Given the description of an element on the screen output the (x, y) to click on. 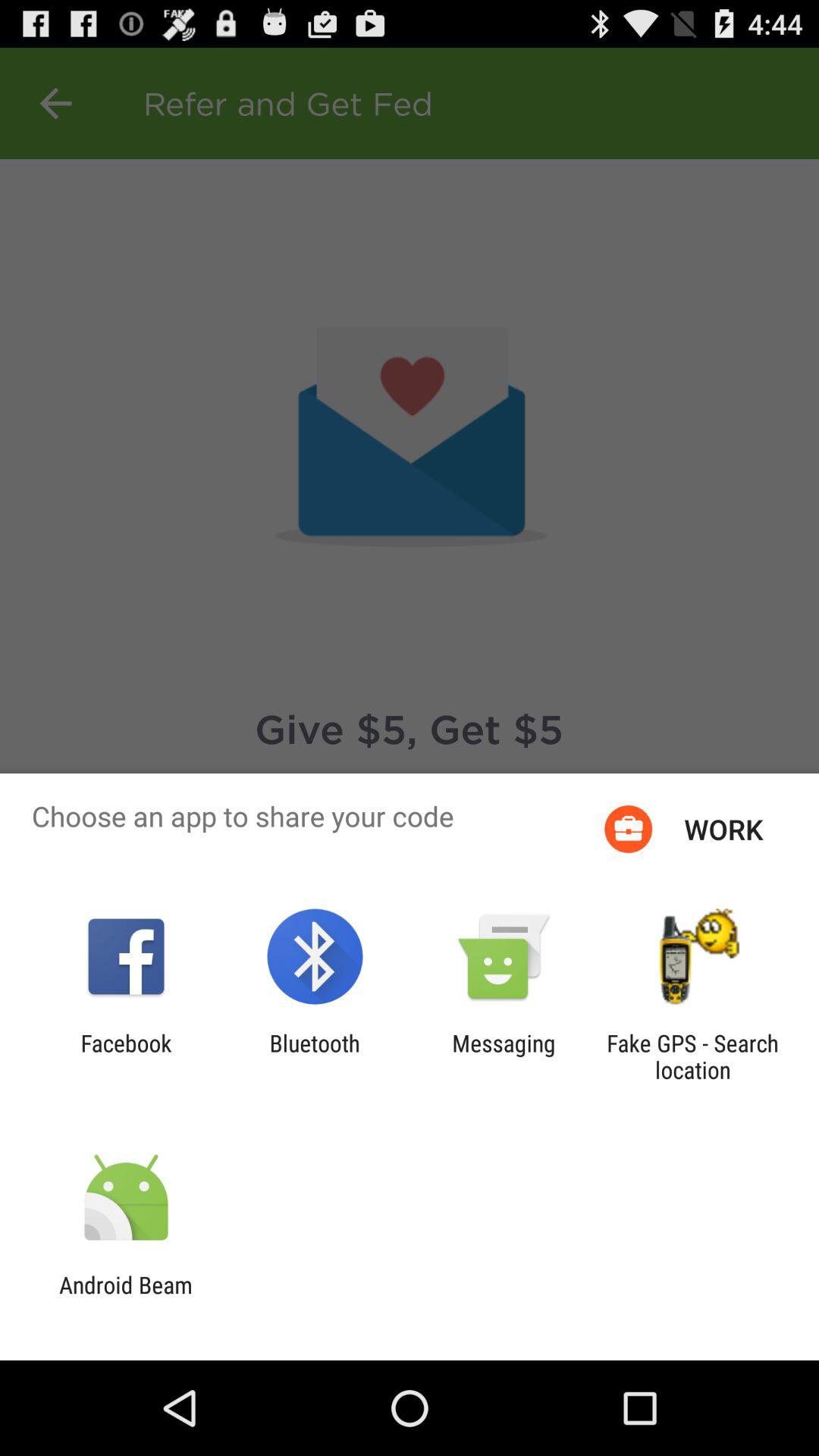
turn on fake gps search app (692, 1056)
